Given the description of an element on the screen output the (x, y) to click on. 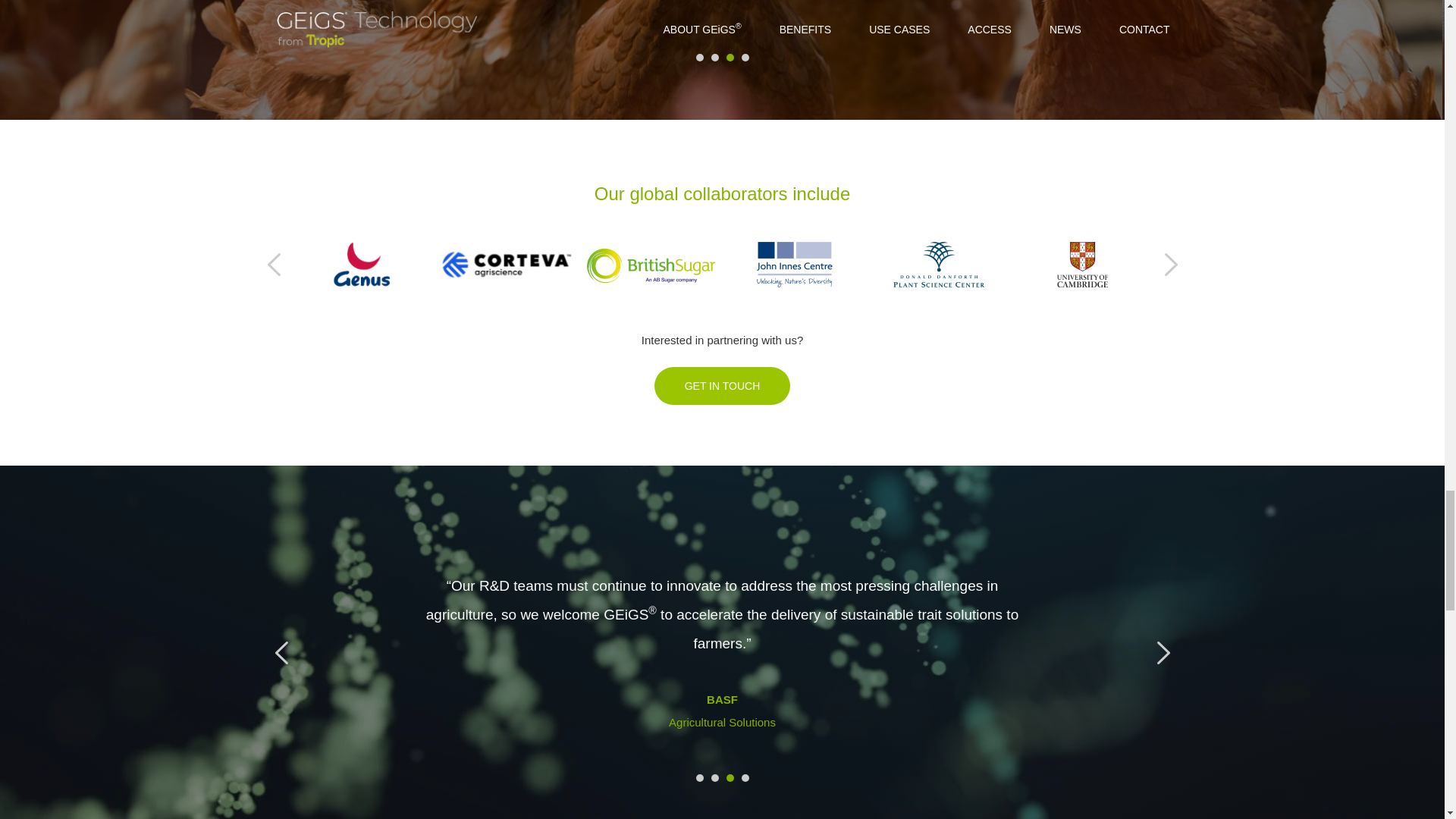
GET IN TOUCH (721, 385)
